Given the description of an element on the screen output the (x, y) to click on. 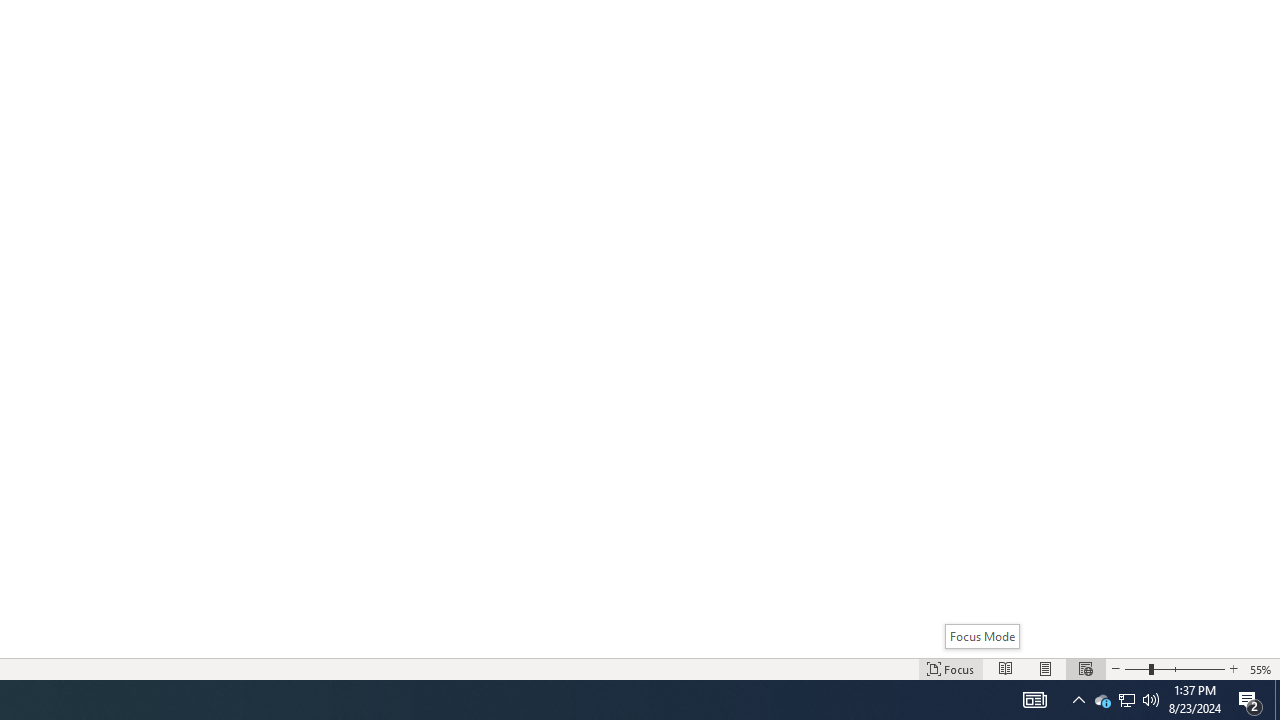
Zoom 55% (1261, 668)
Focus Mode (982, 636)
